Given the description of an element on the screen output the (x, y) to click on. 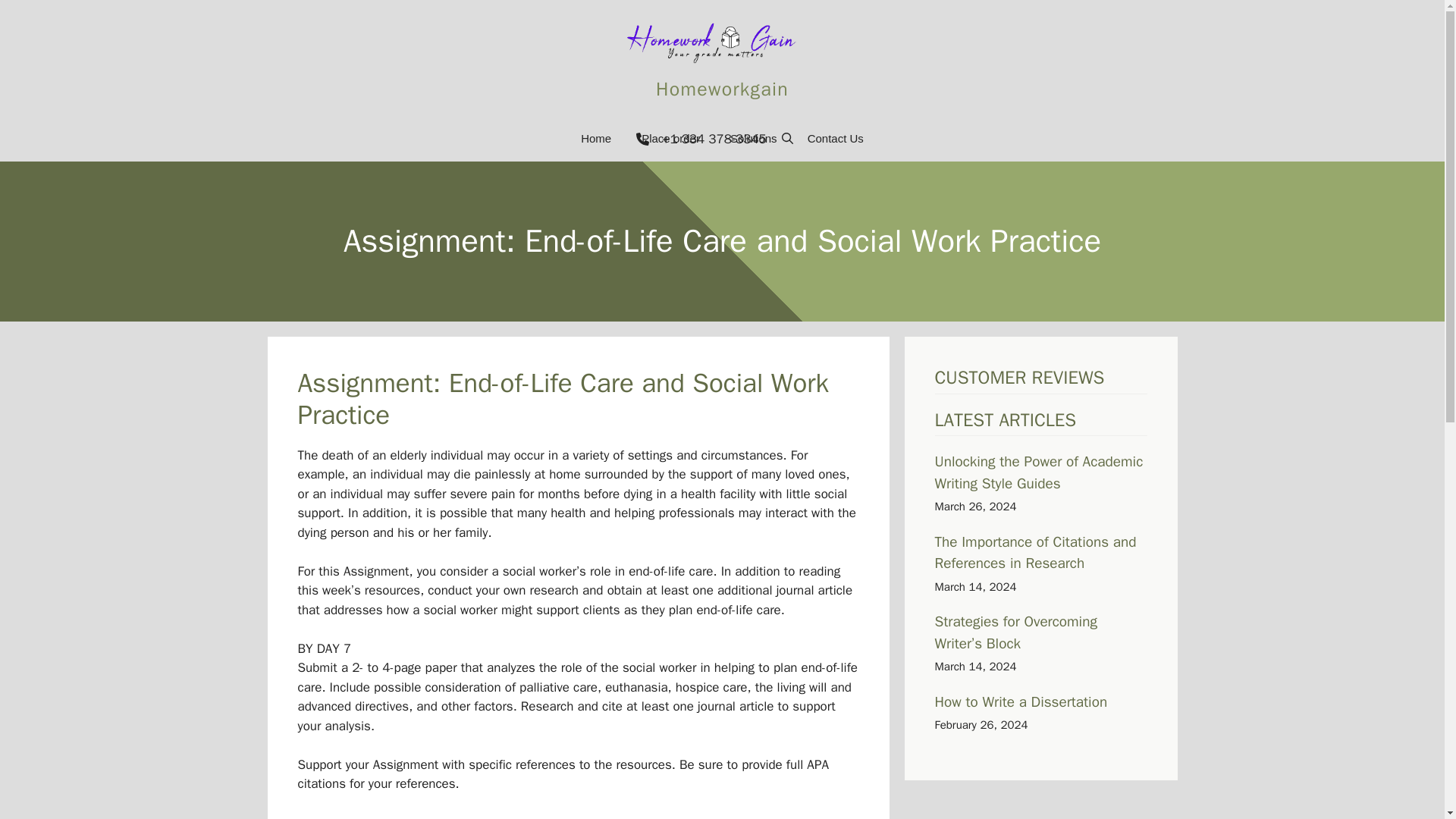
Place order (670, 138)
Home (596, 138)
Unlocking the Power of Academic Writing Style Guides (1038, 472)
Solutions (753, 138)
How to Write a Dissertation (1020, 701)
The Importance of Citations and References in Research (1034, 553)
Contact Us (835, 138)
Homeworkgain (722, 88)
